Given the description of an element on the screen output the (x, y) to click on. 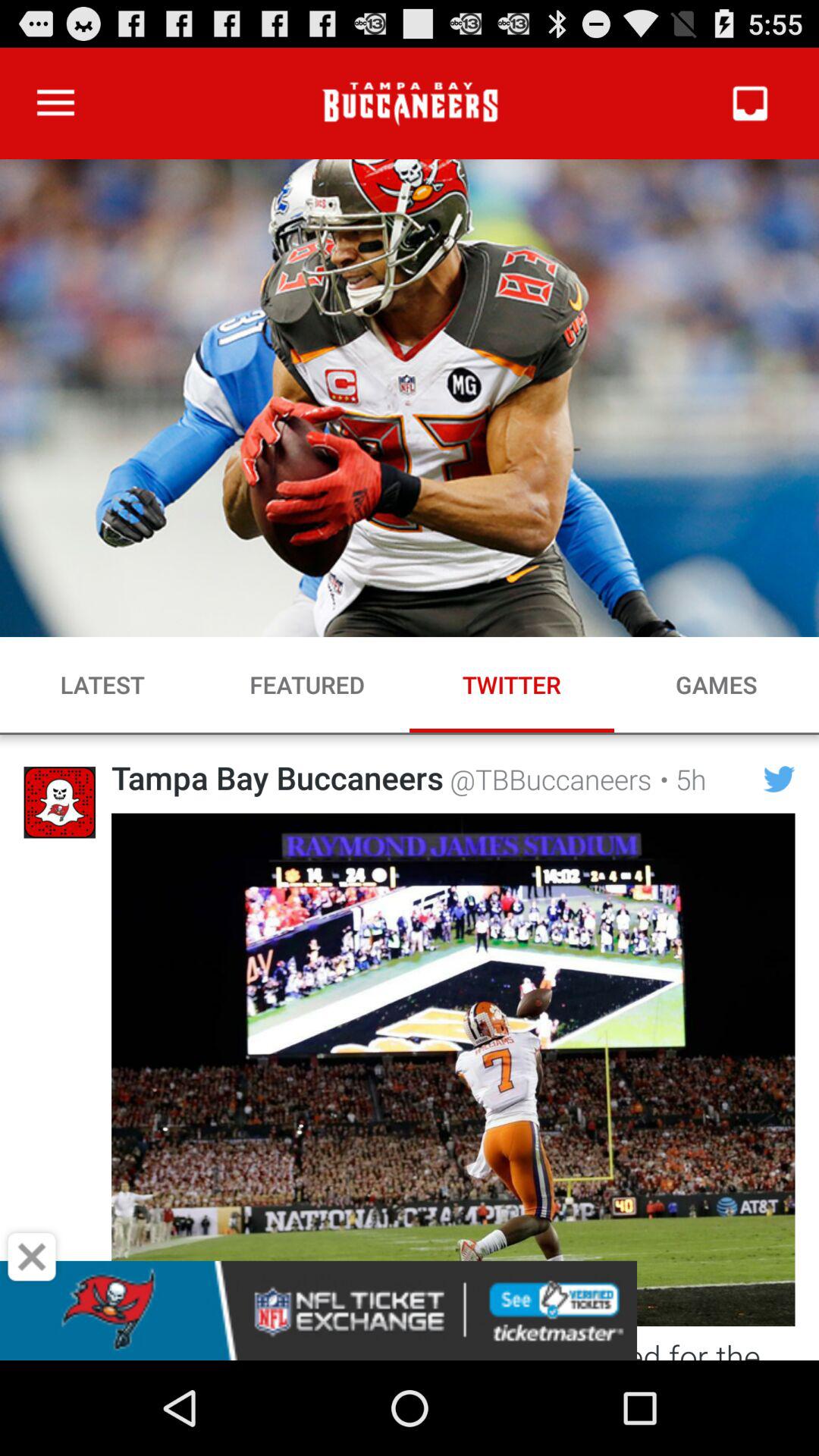
close advertisement (31, 1256)
